Given the description of an element on the screen output the (x, y) to click on. 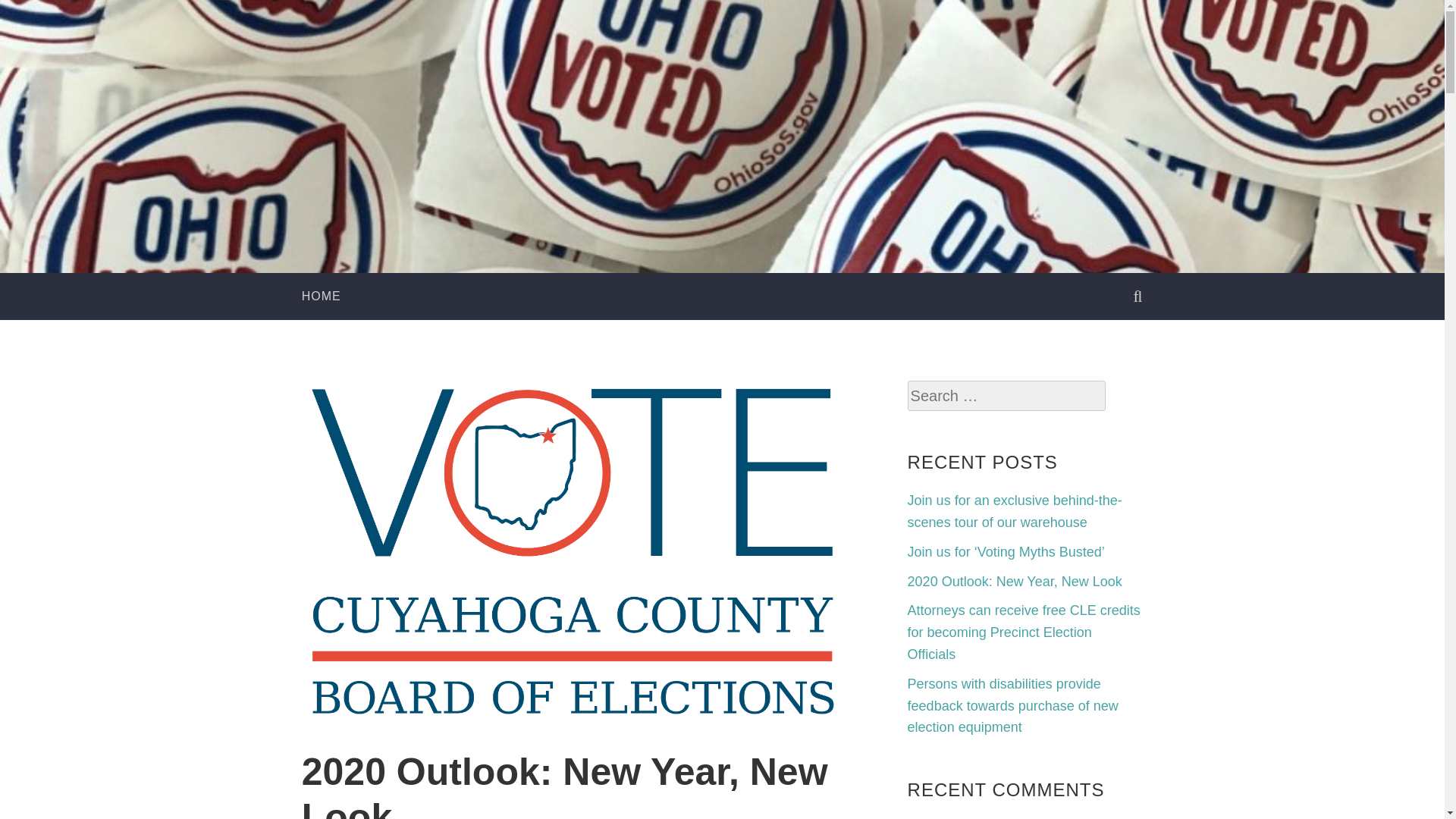
2020 Outlook: New Year, New Look (1014, 581)
Search (32, 17)
